Given the description of an element on the screen output the (x, y) to click on. 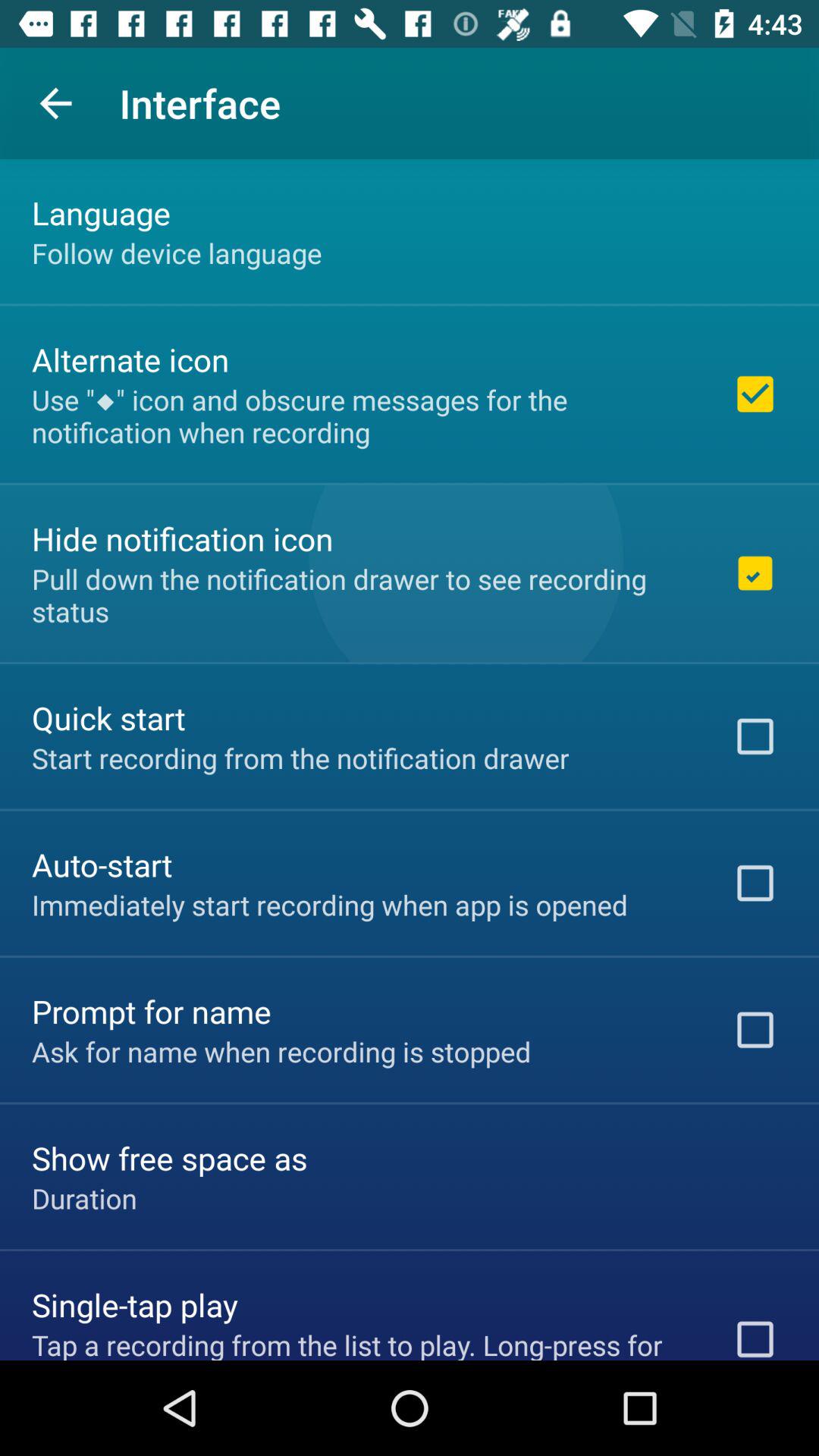
choose item below the pull down the icon (108, 717)
